Given the description of an element on the screen output the (x, y) to click on. 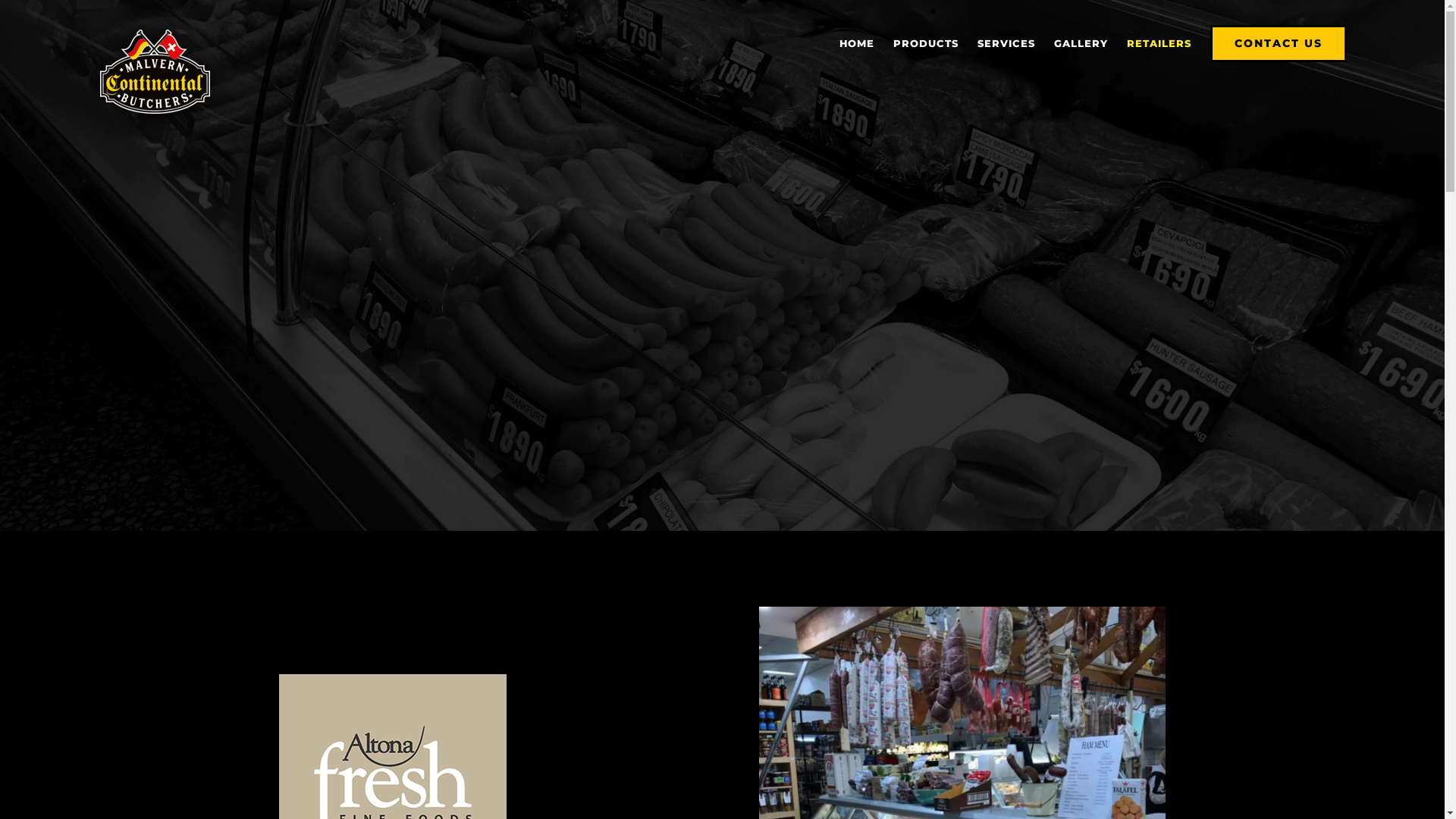
CONTACT US Element type: text (1278, 42)
CONTACT US Element type: text (721, 351)
HOME Element type: text (856, 42)
PRODUCTS Element type: text (925, 42)
GALLERY Element type: text (1080, 42)
SERVICES Element type: text (1006, 42)
RETAILERS Element type: text (1158, 42)
